Given the description of an element on the screen output the (x, y) to click on. 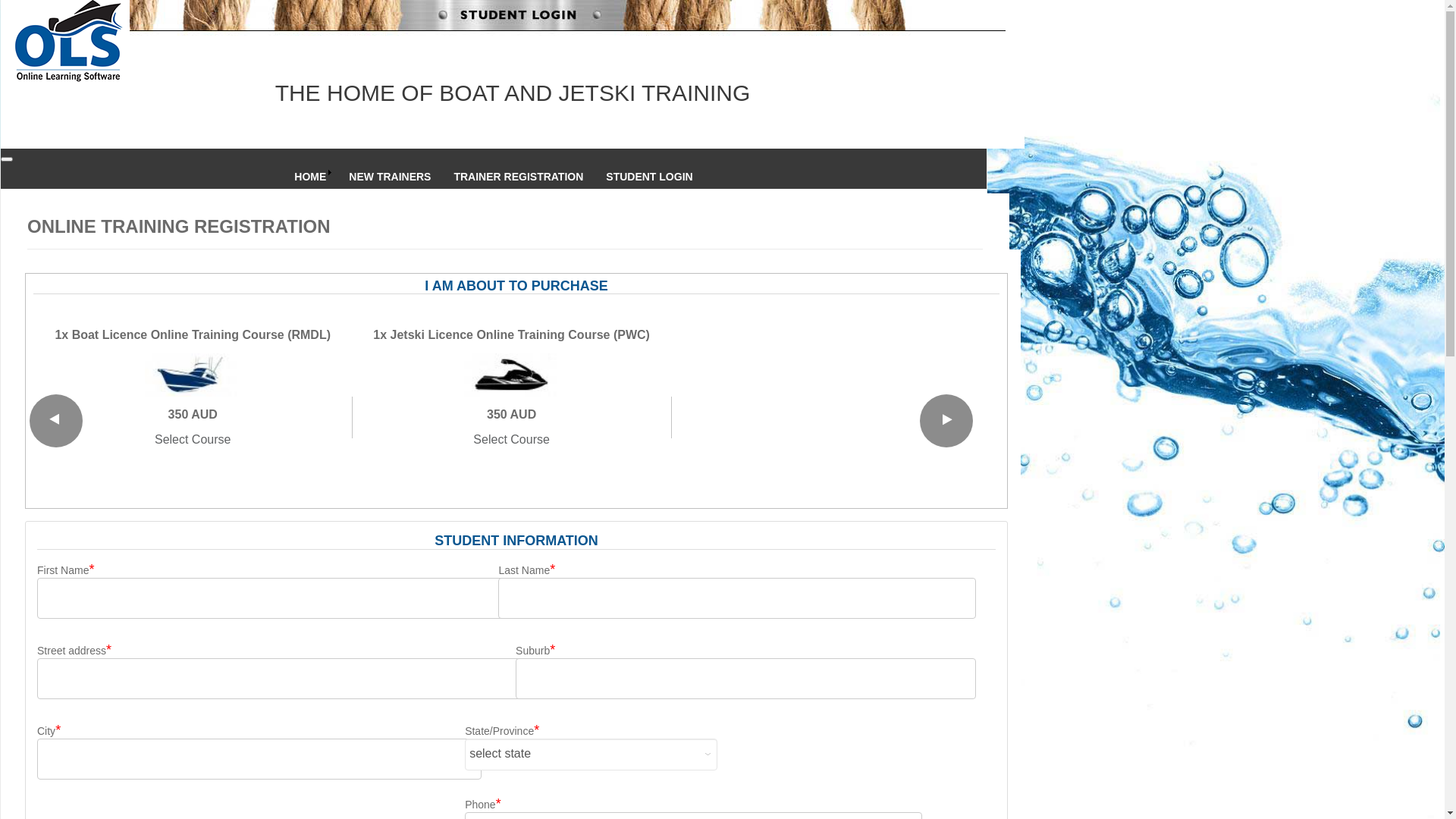
TRAINER REGISTRATION Element type: text (518, 176)
Select Course Element type: text (511, 439)
Skip to main content Element type: text (0, 0)
Home Element type: hover (499, 41)
Select Course Element type: text (192, 439)
STUDENT LOGIN Element type: text (648, 176)
NEW TRAINERS Element type: text (389, 176)
HOME Element type: text (309, 176)
